Given the description of an element on the screen output the (x, y) to click on. 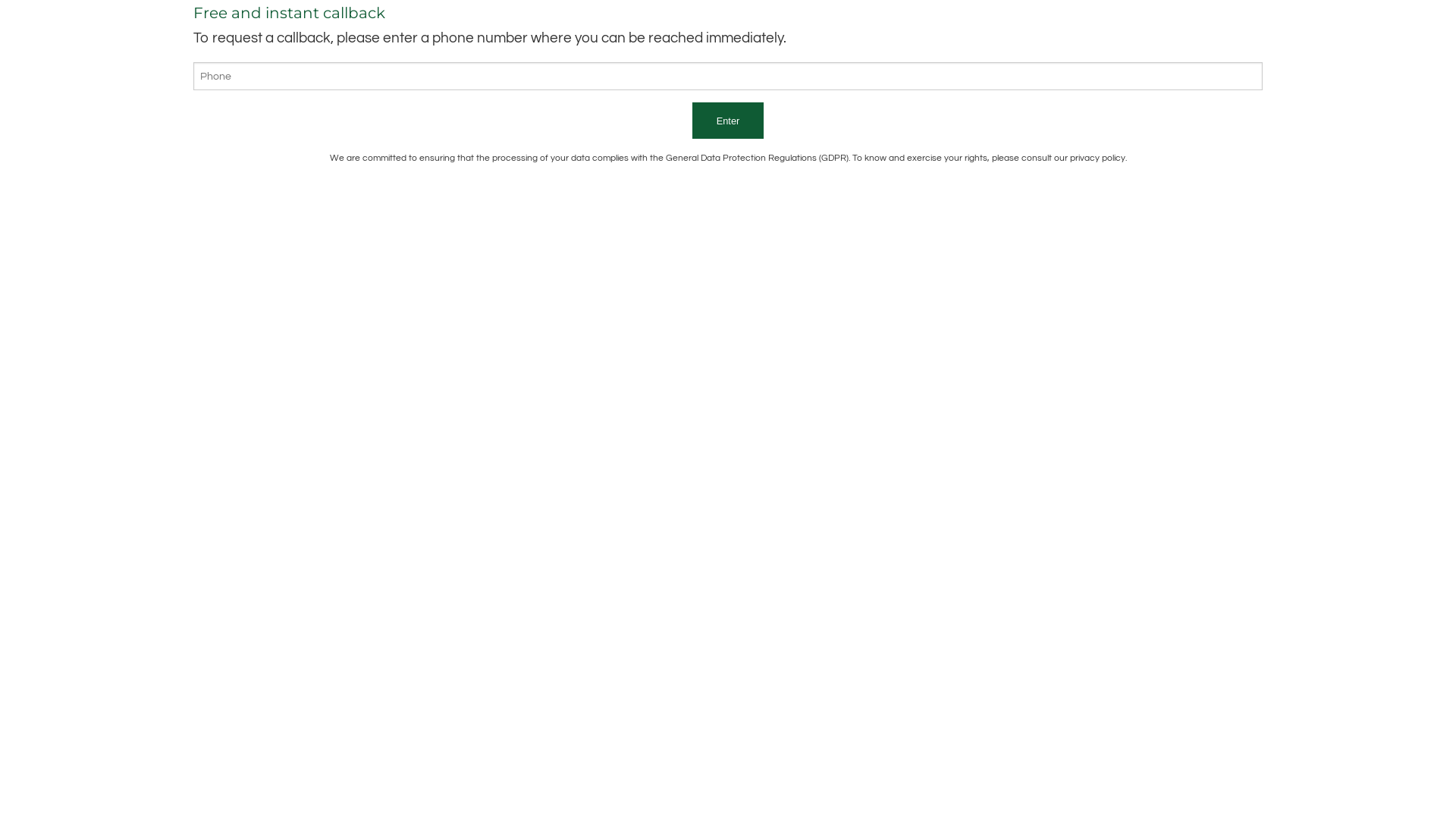
Enter Element type: text (728, 120)
